Given the description of an element on the screen output the (x, y) to click on. 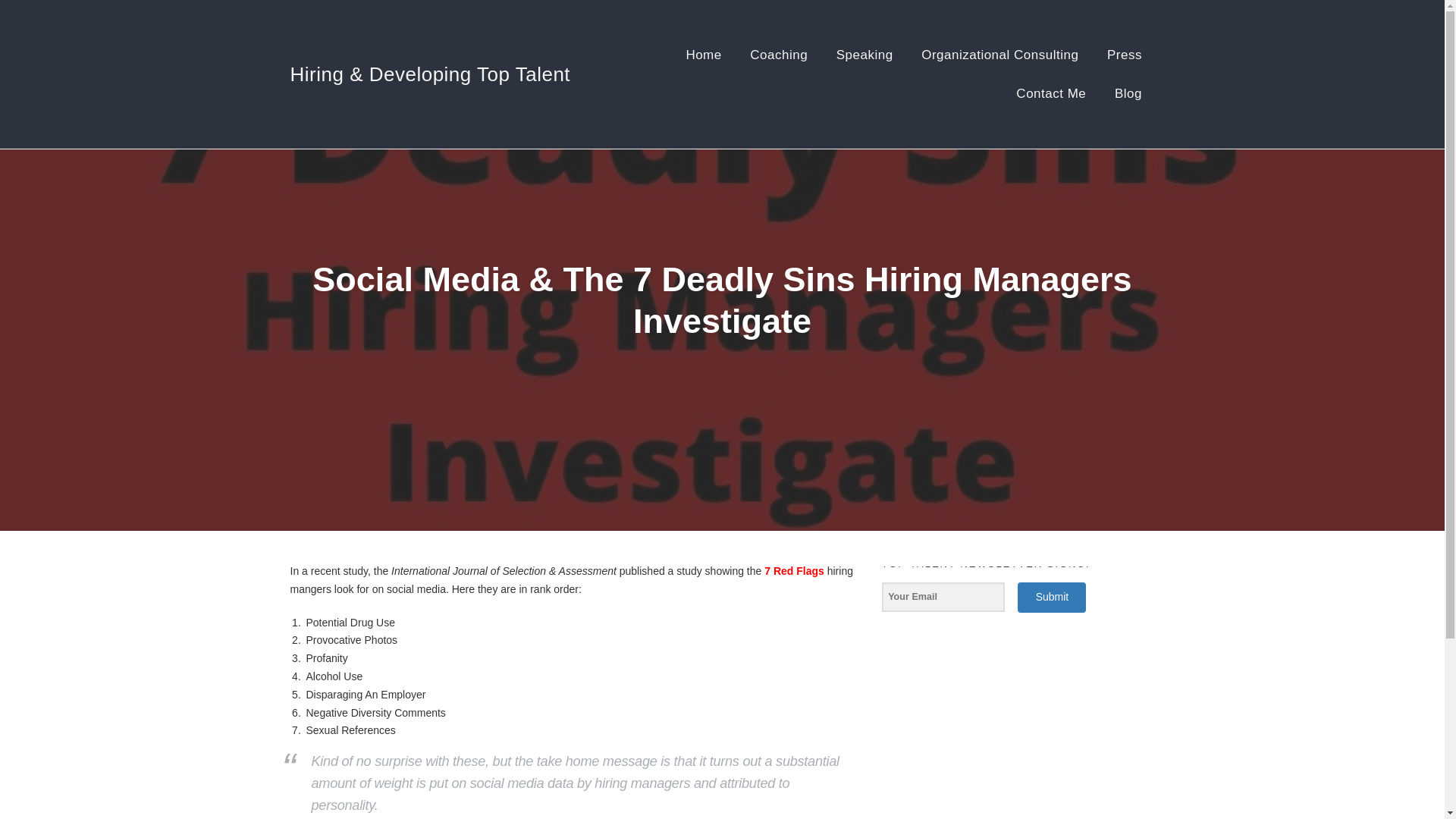
Blog (1128, 94)
Submit (1051, 597)
Press (1124, 55)
Organizational Consulting (999, 55)
Contact Me (1050, 94)
Speaking (864, 55)
Home (703, 55)
Coaching (778, 55)
